Given the description of an element on the screen output the (x, y) to click on. 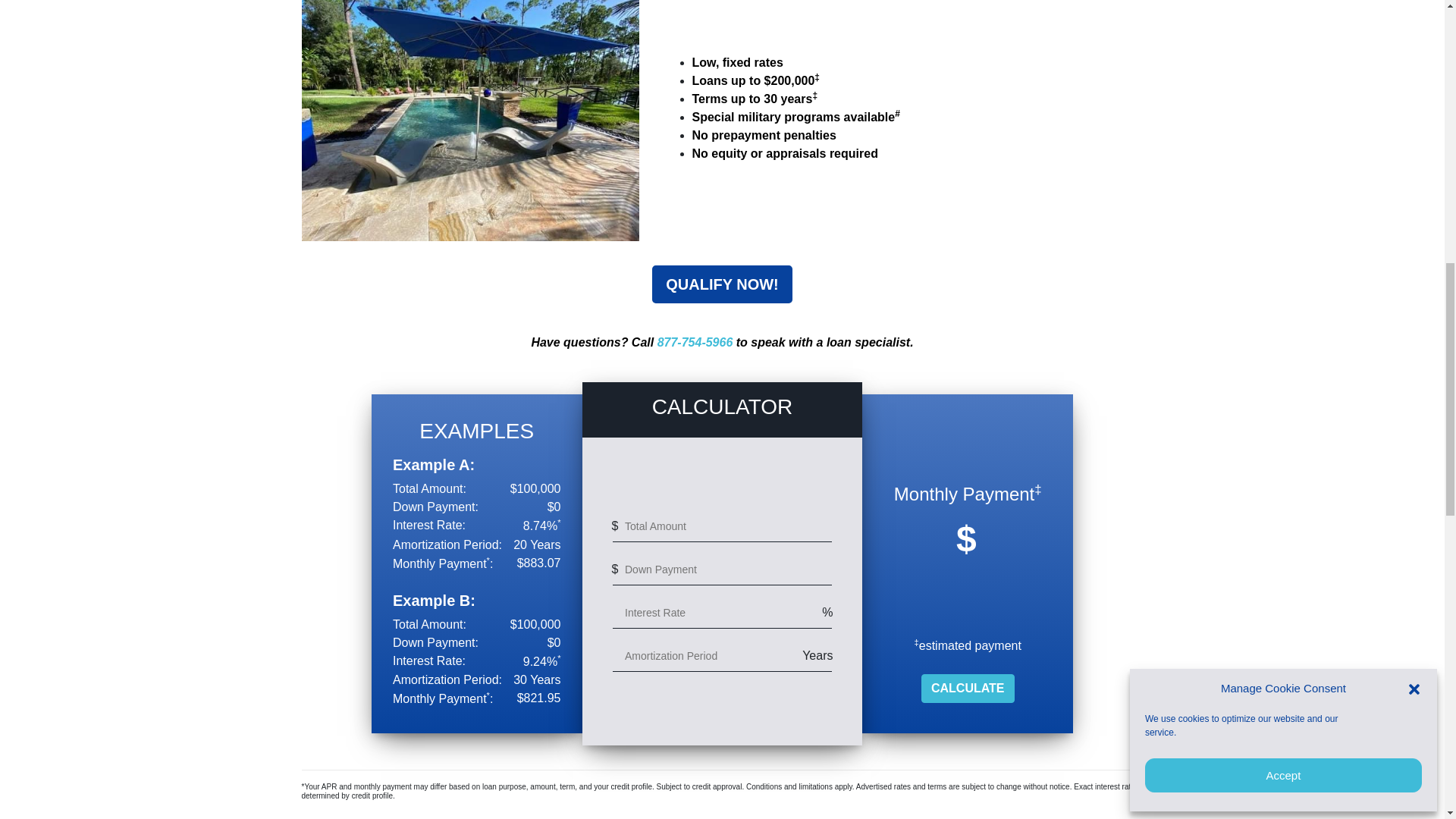
Calculate (967, 688)
QUALIFY NOW! (722, 284)
Calculate (967, 688)
877-754-5966 (695, 341)
